Given the description of an element on the screen output the (x, y) to click on. 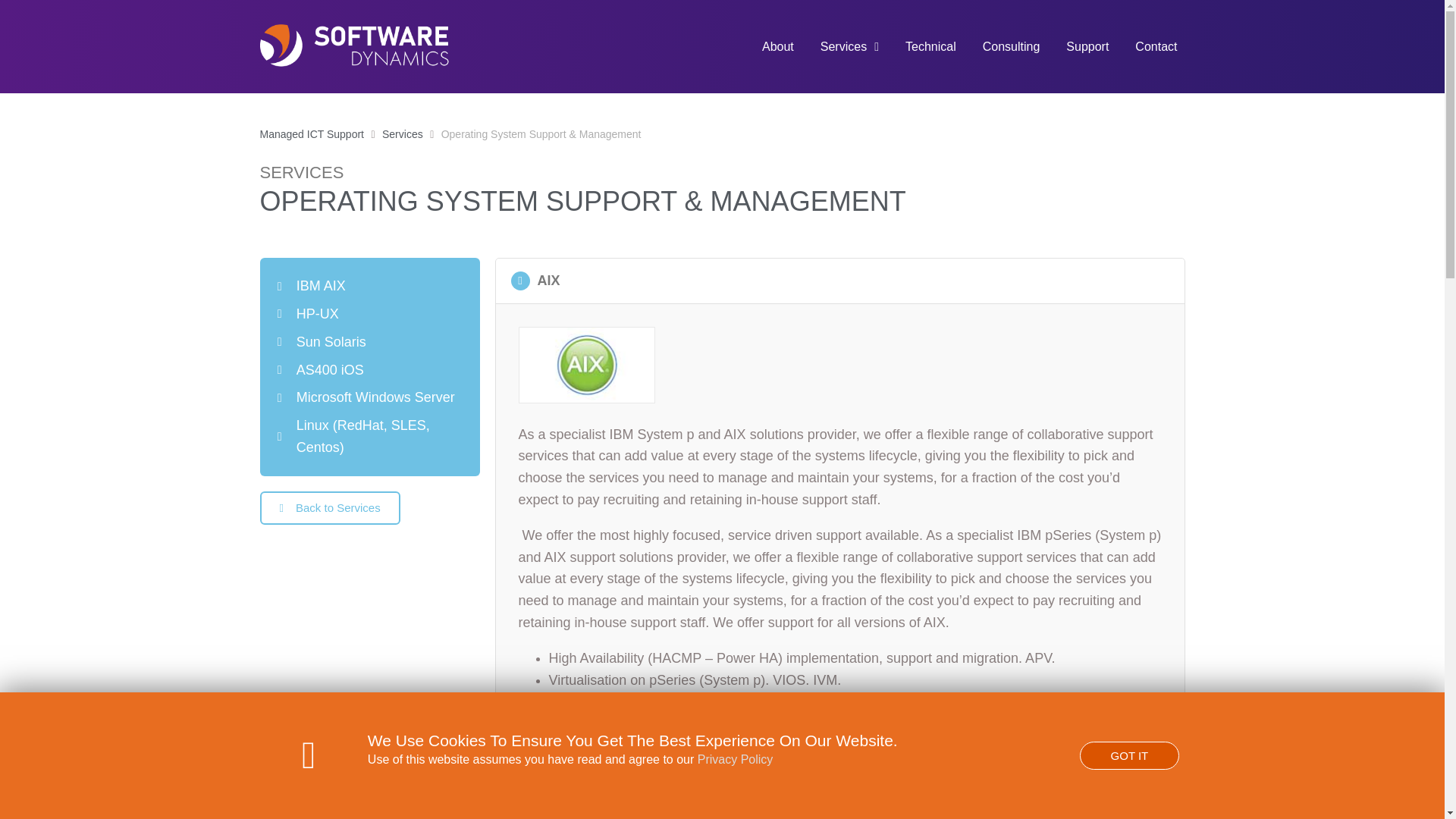
Technical (930, 46)
Services (402, 134)
Consulting (1011, 46)
Contact (1155, 46)
Support (1087, 46)
Back to Services (328, 507)
Services (849, 46)
Managed ICT Support (311, 134)
Services (402, 134)
About (778, 46)
Managed ICT Support (311, 134)
